Given the description of an element on the screen output the (x, y) to click on. 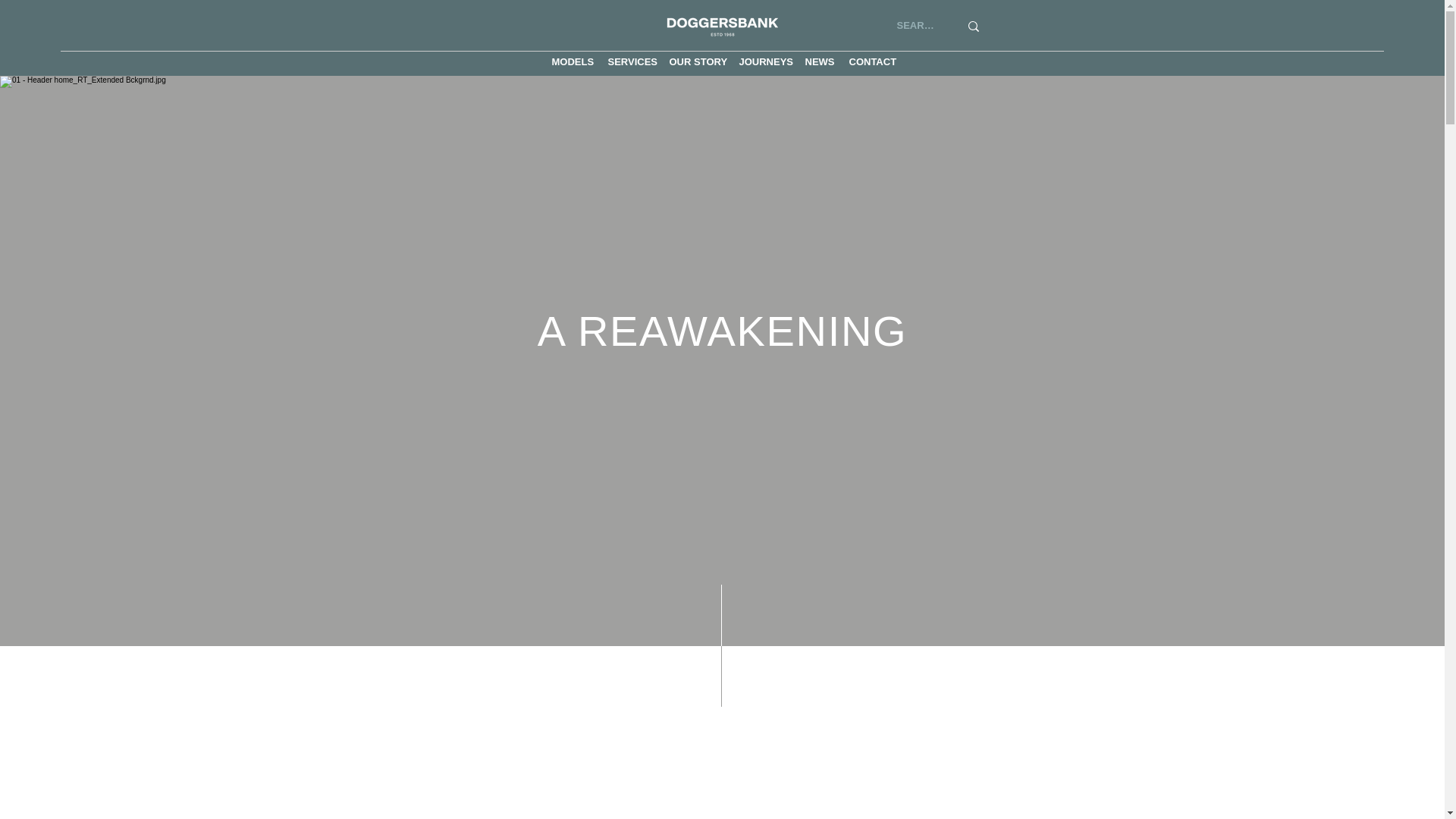
SERVICES (630, 61)
CONTACT (871, 61)
JOURNEYS (763, 61)
MODELS (571, 61)
OUR STORY (695, 61)
NEWS (819, 61)
